Given the description of an element on the screen output the (x, y) to click on. 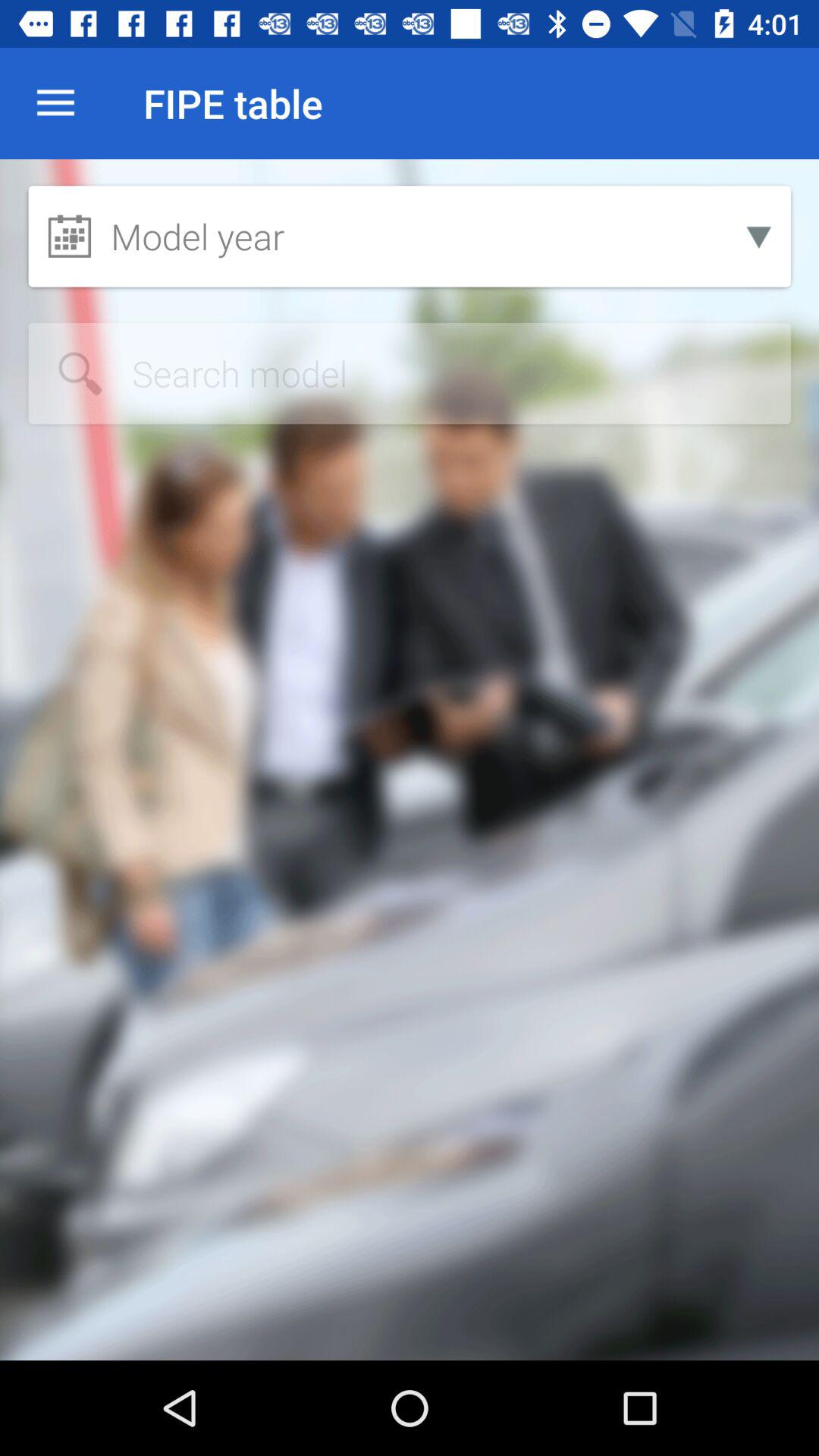
search car model (409, 373)
